Given the description of an element on the screen output the (x, y) to click on. 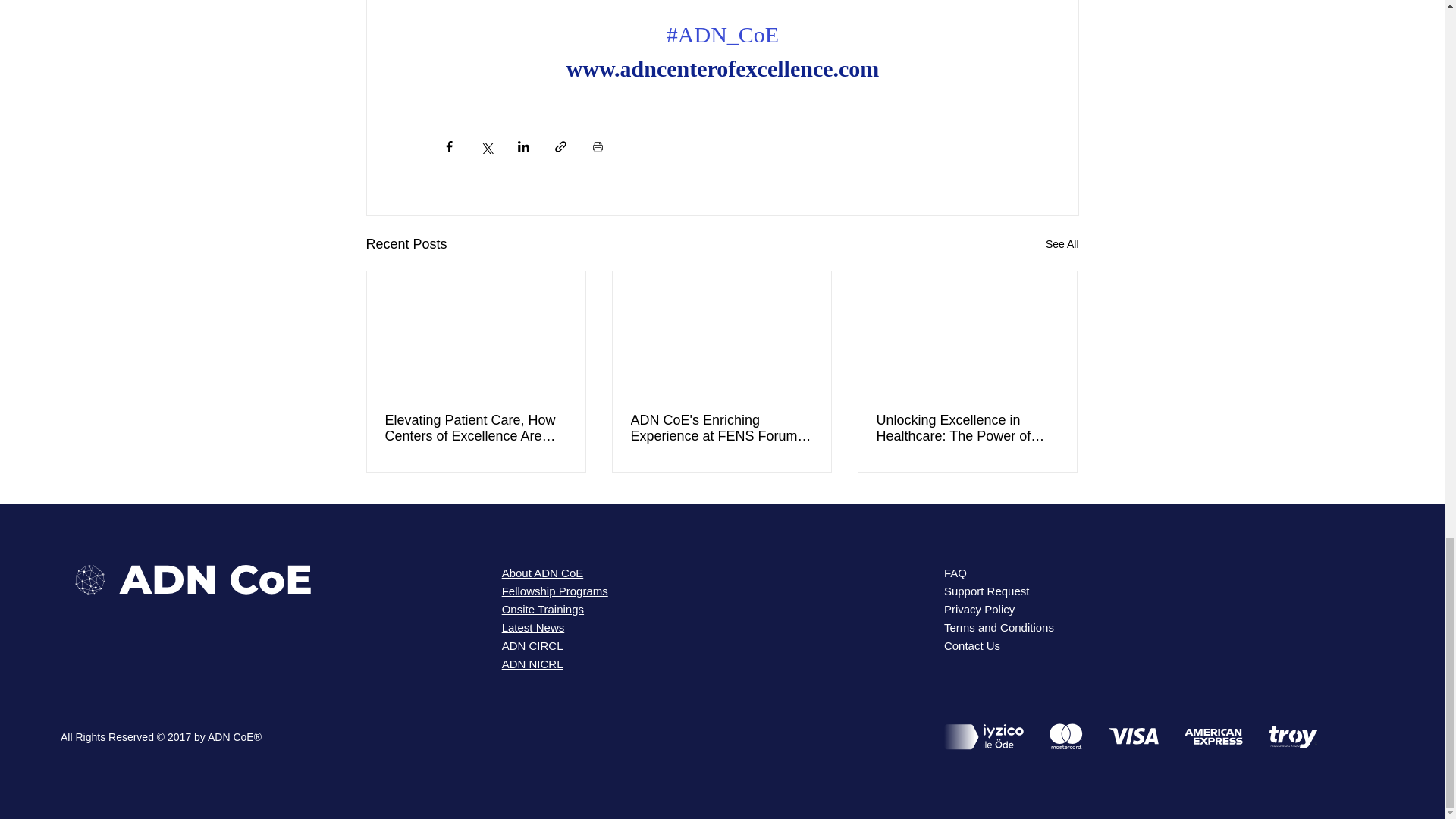
Privacy Policy (978, 608)
ADN CIRCL (532, 645)
Support Request (986, 590)
Terms and Conditions (998, 626)
See All (1061, 244)
About ADN CoE (542, 572)
Latest News (533, 626)
ADN NICRL (532, 663)
Contact Us (971, 645)
Fellowship Programs (555, 590)
FAQ (954, 572)
Onsite Trainings (542, 608)
